Given the description of an element on the screen output the (x, y) to click on. 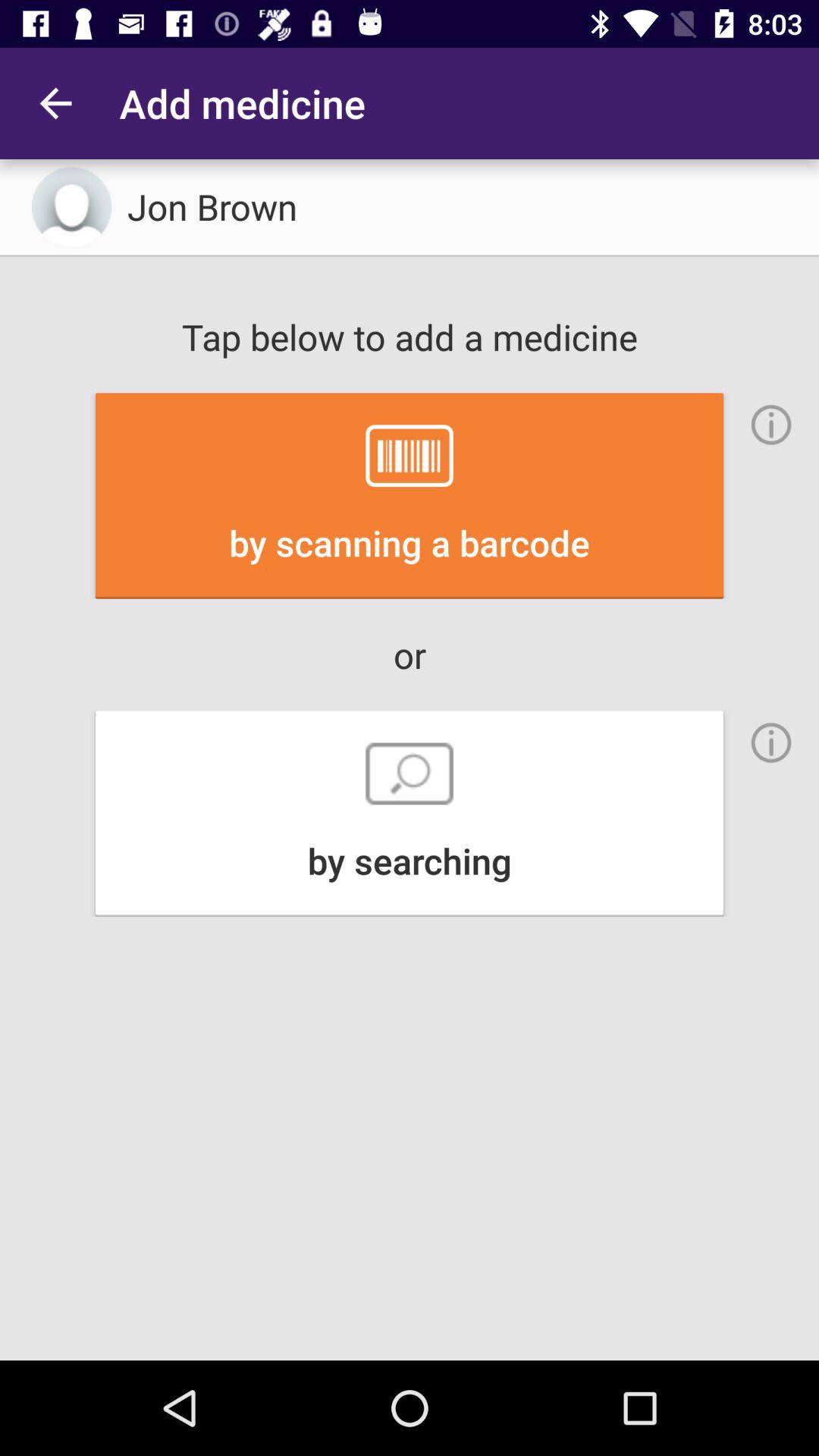
toggle more information (771, 742)
